Given the description of an element on the screen output the (x, y) to click on. 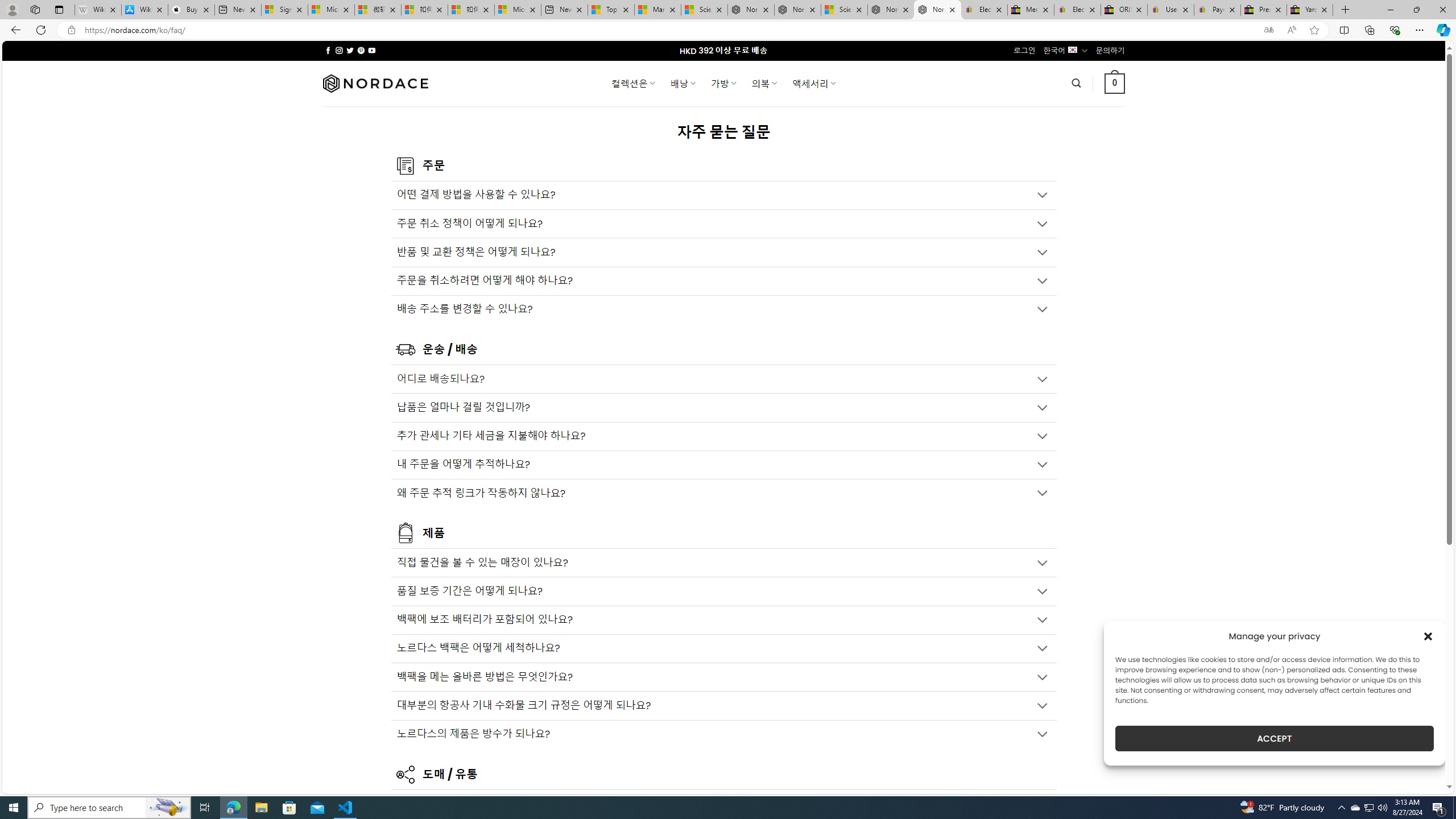
 0  (1115, 83)
Follow on Twitter (349, 50)
